Given the description of an element on the screen output the (x, y) to click on. 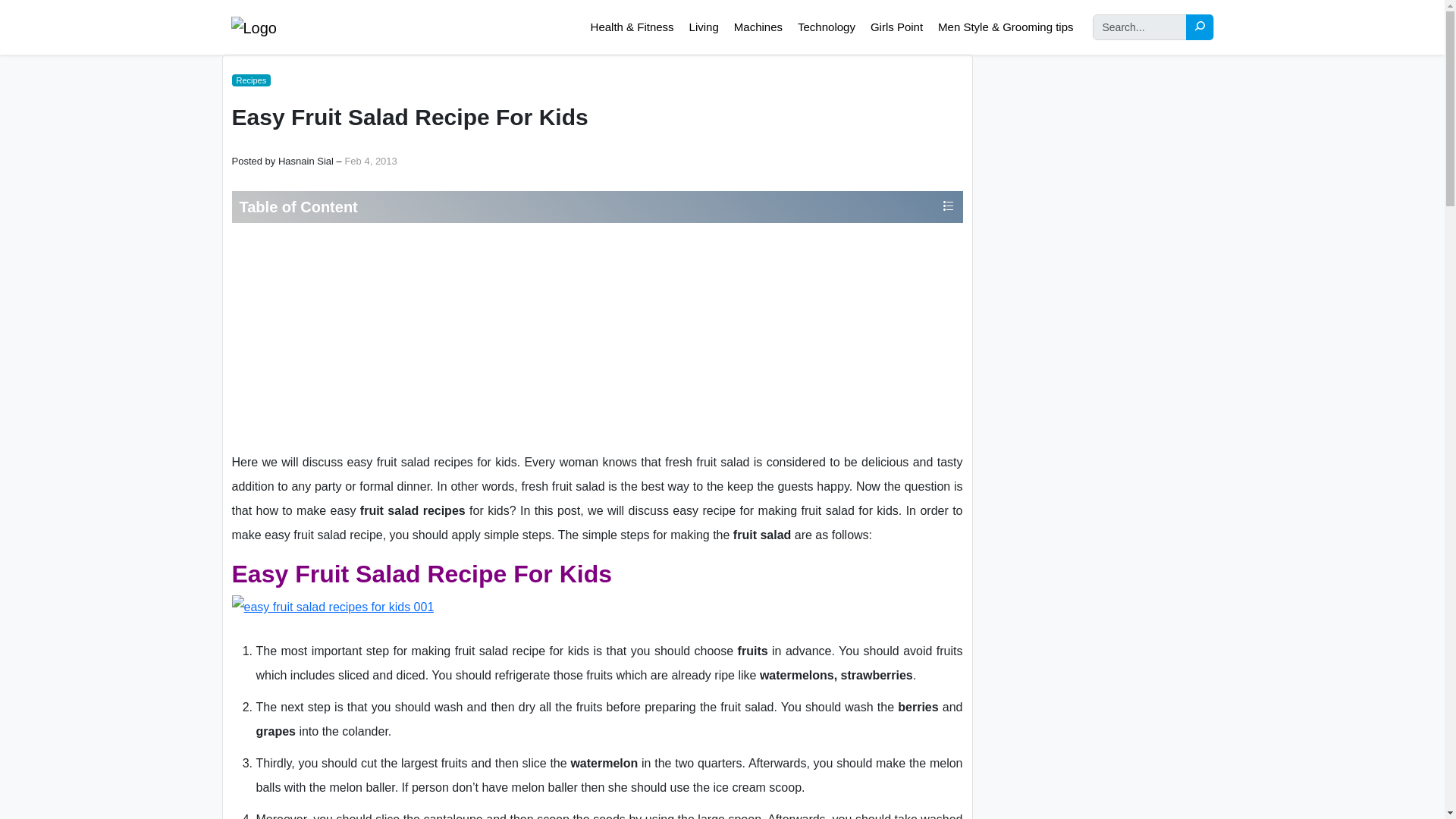
Living (703, 26)
Recipes (250, 80)
Girls Point (896, 26)
Machines (758, 26)
Advertisement (596, 336)
Technology (826, 26)
